Given the description of an element on the screen output the (x, y) to click on. 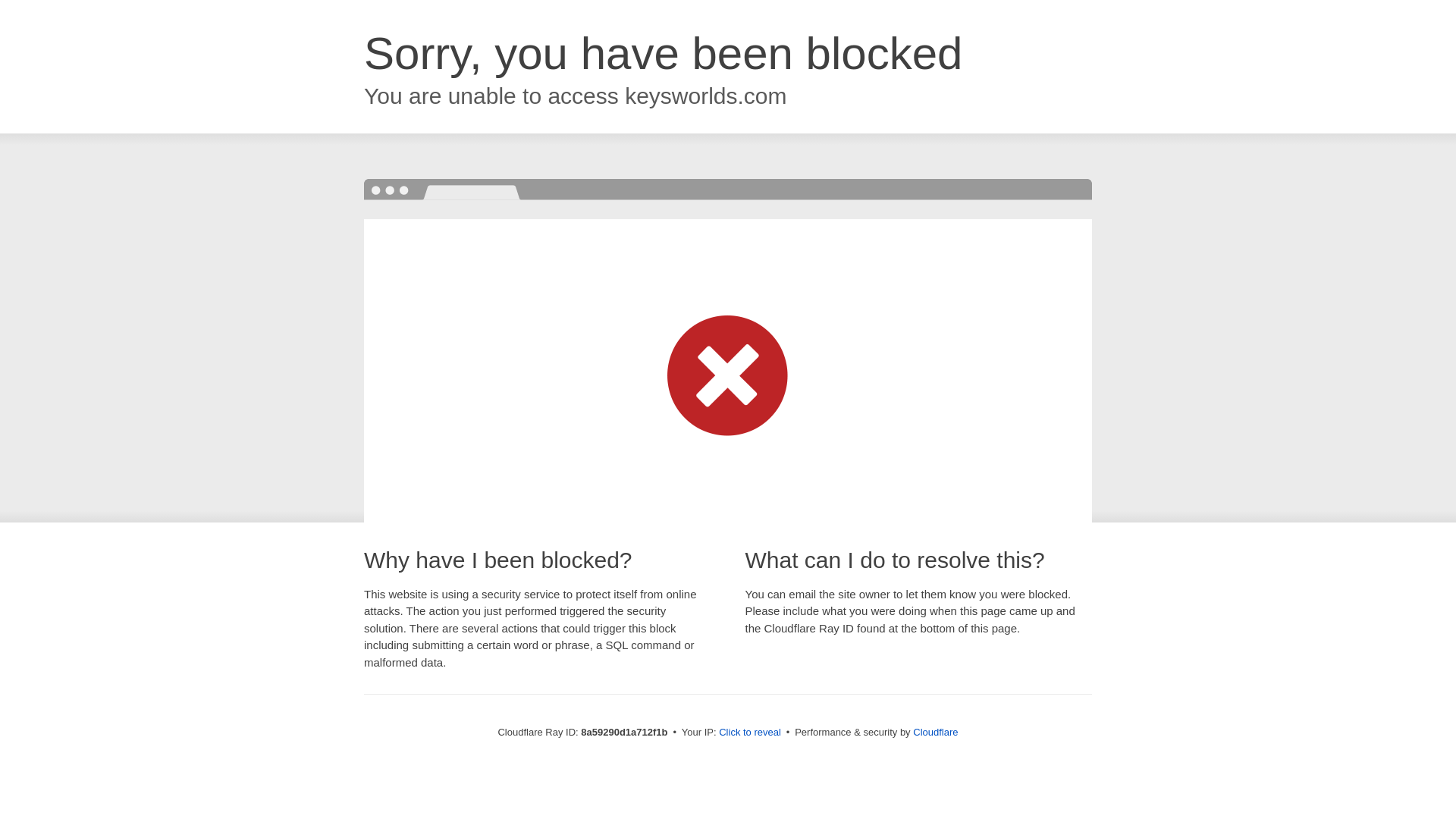
Cloudflare (935, 731)
Click to reveal (749, 732)
